Given the description of an element on the screen output the (x, y) to click on. 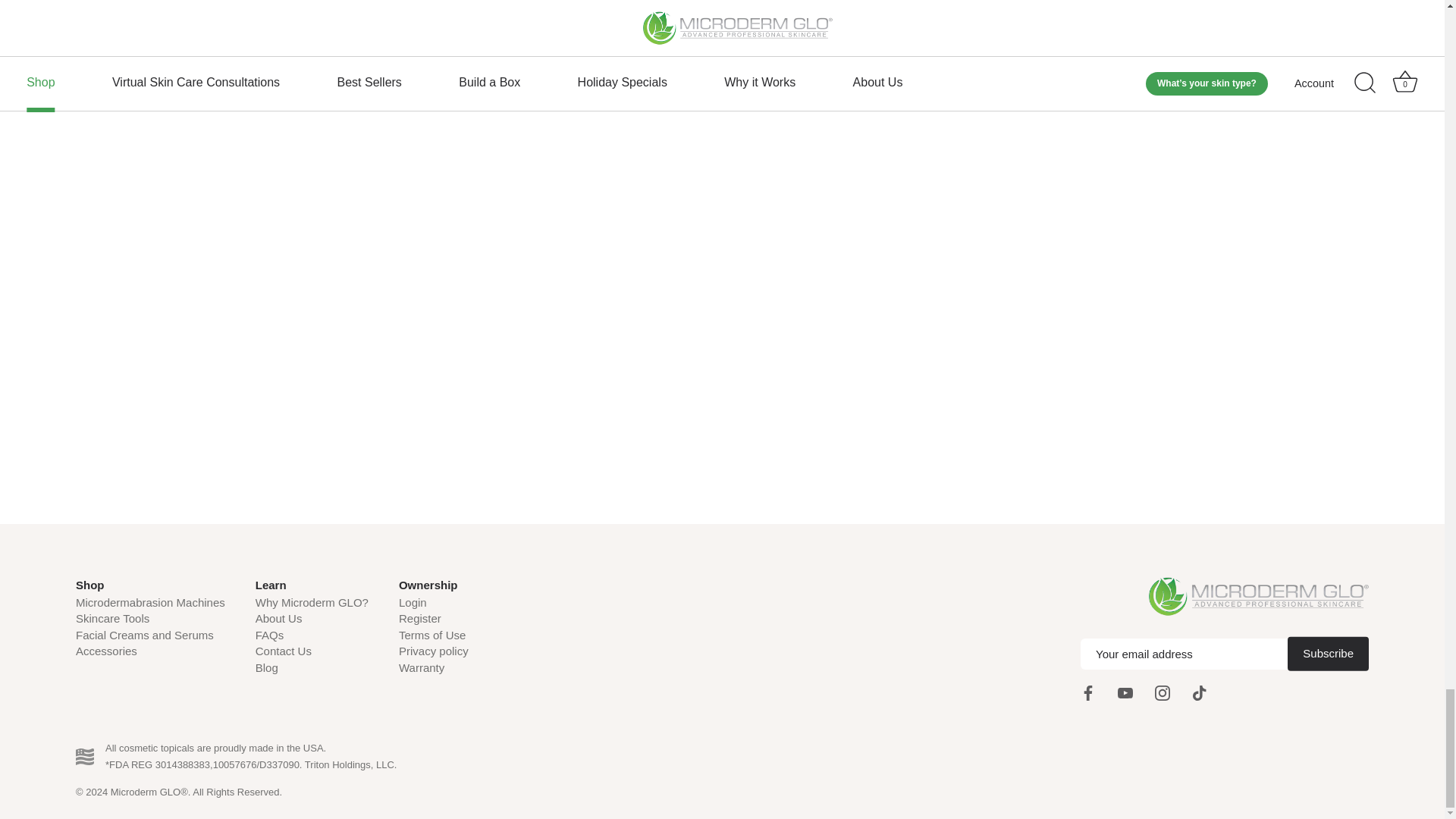
Youtube (1125, 693)
Instagram (1162, 693)
